Given the description of an element on the screen output the (x, y) to click on. 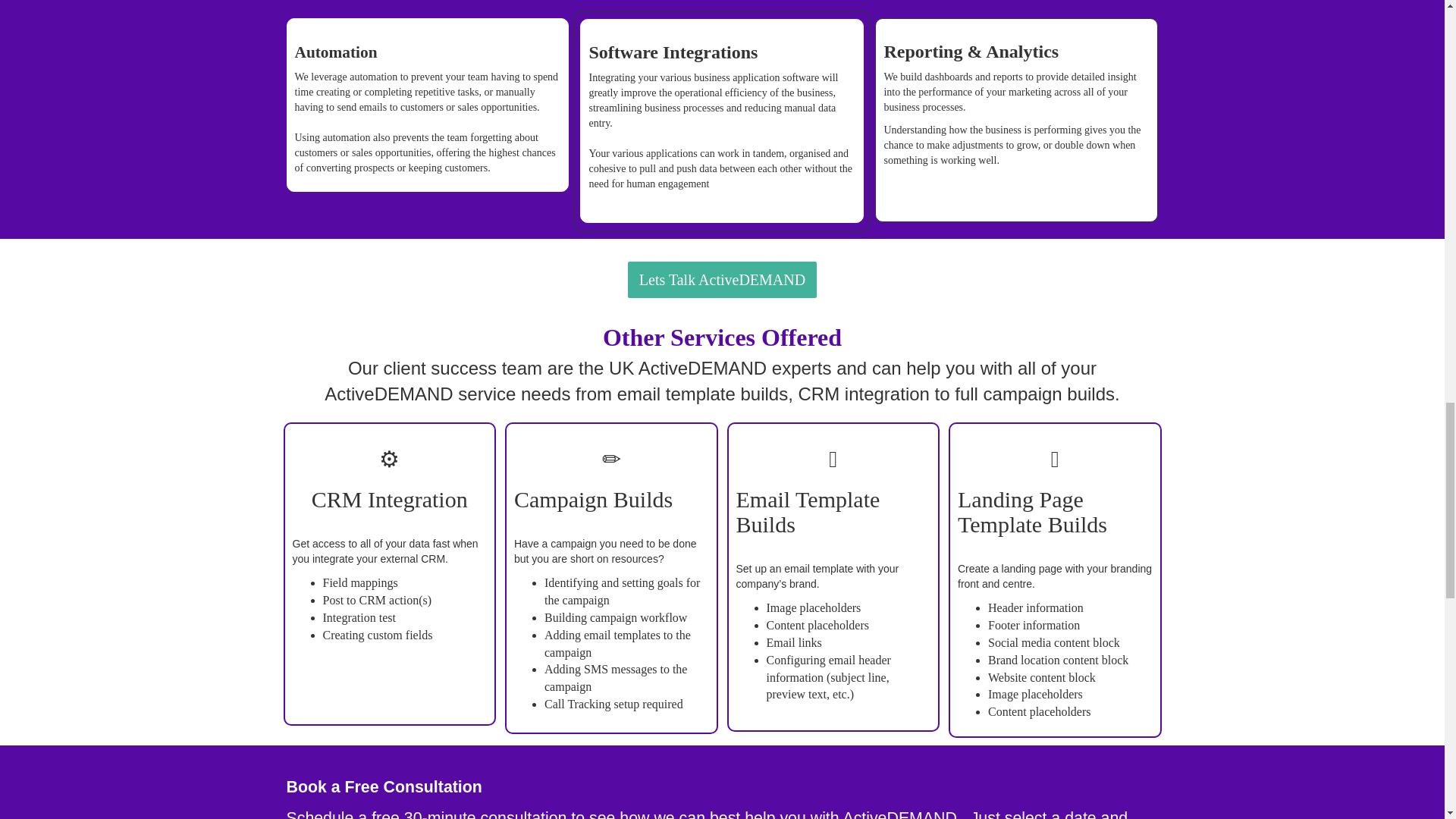
Lets Talk ActiveDEMAND (721, 279)
Lets Talk ActiveDEMAND (721, 278)
